Given the description of an element on the screen output the (x, y) to click on. 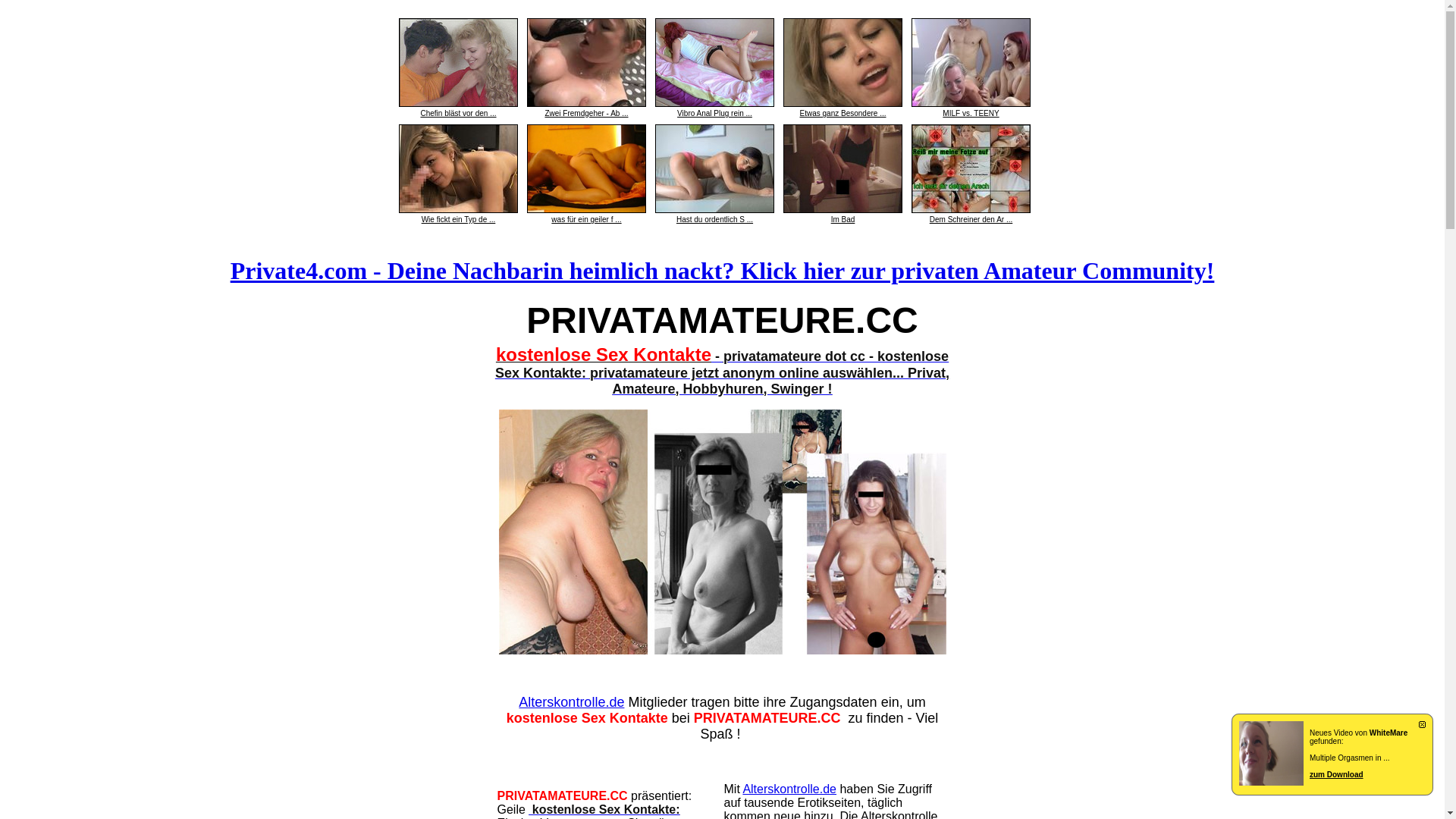
Alterskontrolle.de Element type: text (789, 788)
 kostenlose Sex Kontakte: Element type: text (603, 809)
Alterskontrolle.de Element type: text (571, 701)
